Given the description of an element on the screen output the (x, y) to click on. 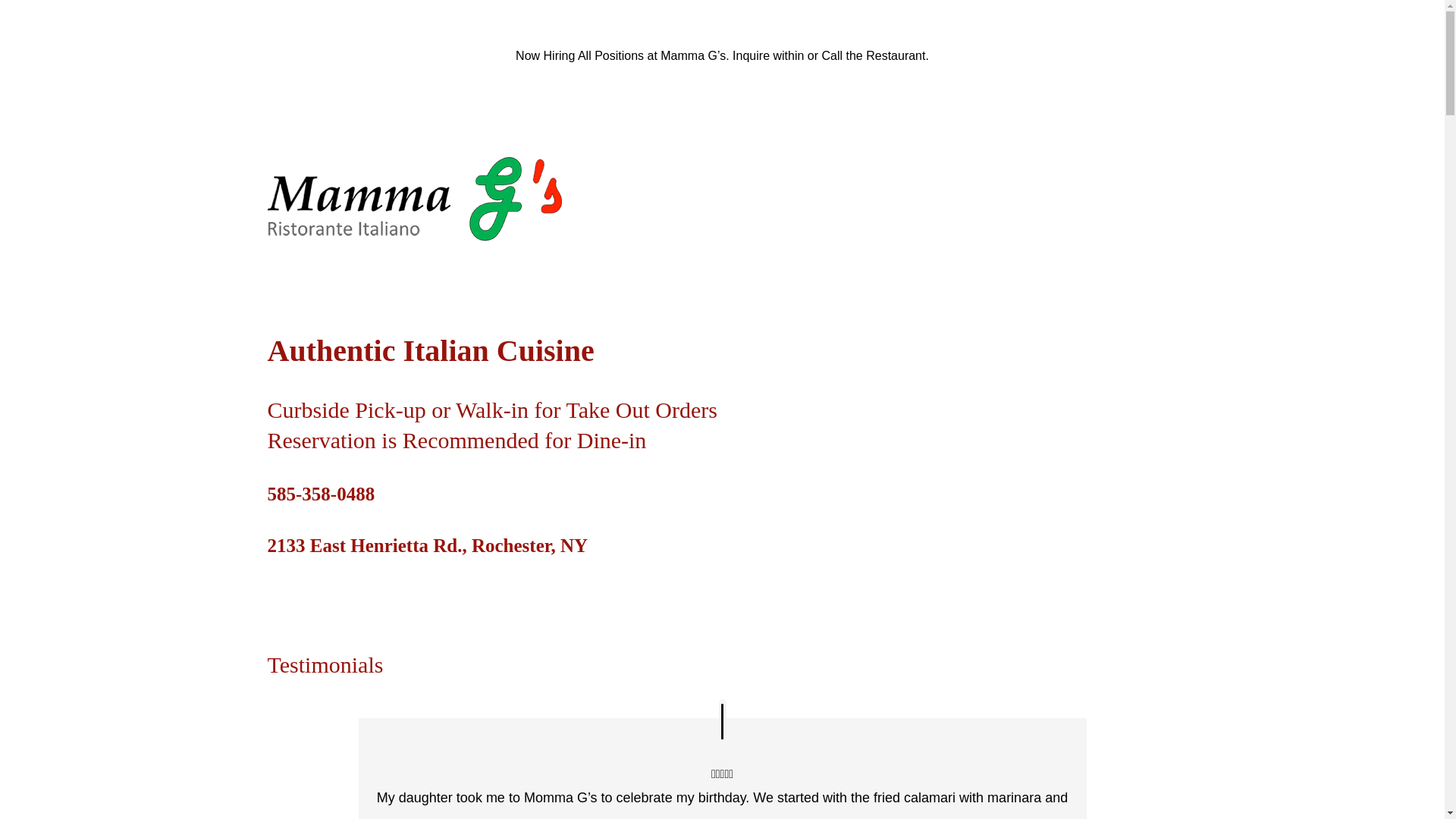
2133 East Henrietta Rd., Rochester, NY (427, 545)
Family Style Take Out (962, 198)
585-358-0488 (320, 494)
Italian Dining (691, 198)
